Given the description of an element on the screen output the (x, y) to click on. 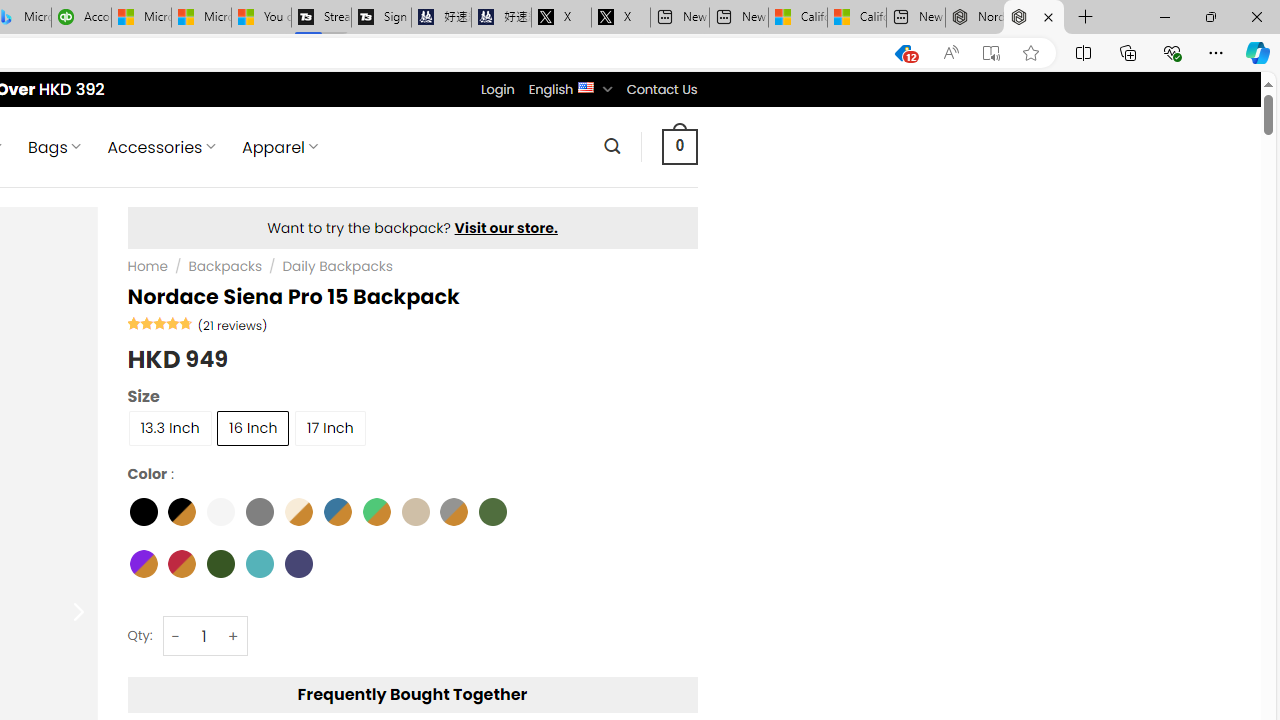
This site has coupons! Shopping in Microsoft Edge, 12 (902, 53)
Rated 4.70 out of 5 (160, 322)
Streaming Coverage | T3 (320, 17)
Add this page to favorites (Ctrl+D) (1030, 53)
Minimize (1164, 16)
(21 reviews) (232, 324)
Browser essentials (1171, 52)
Login (497, 89)
New Tab (1085, 17)
